Given the description of an element on the screen output the (x, y) to click on. 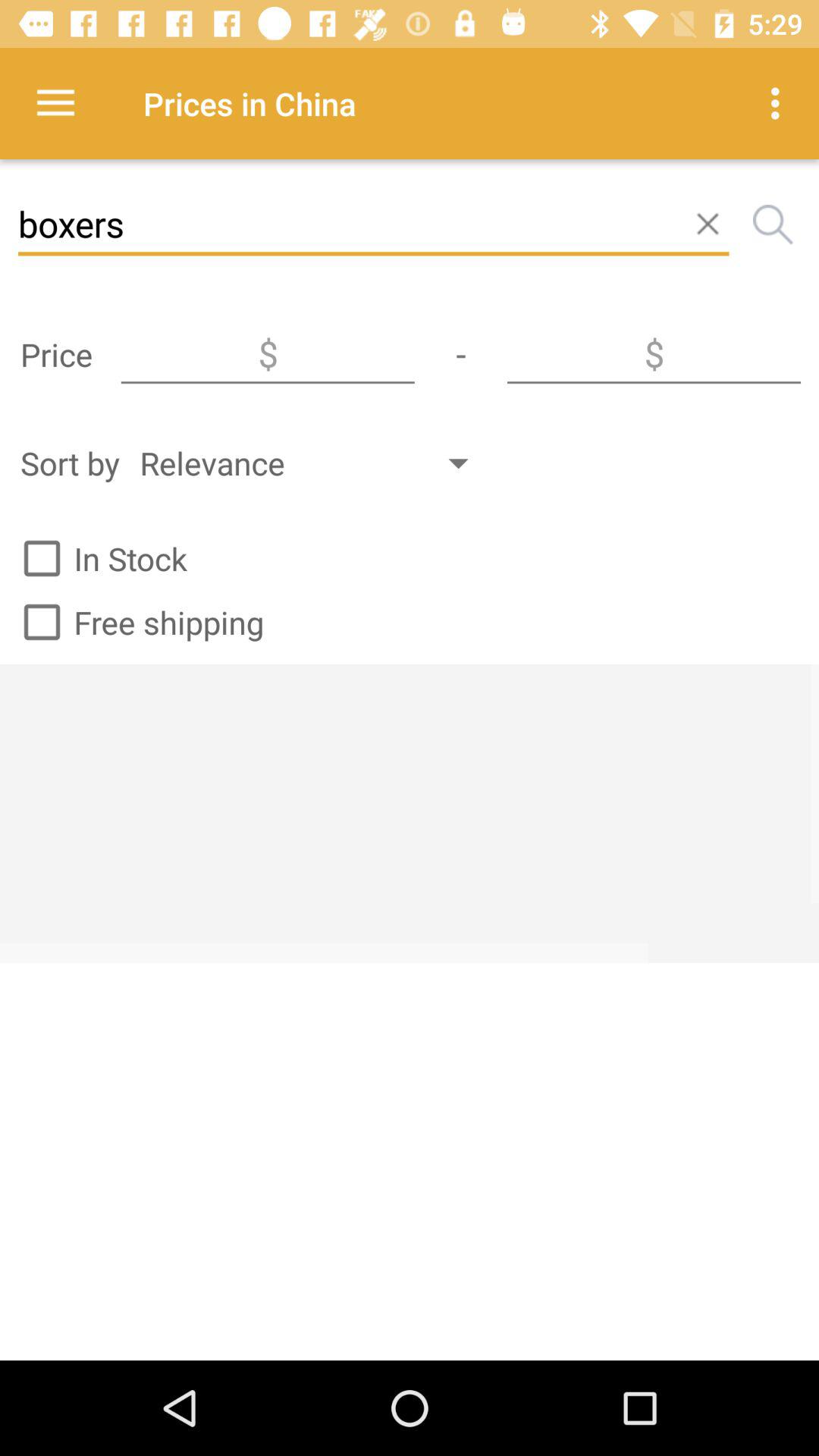
select the item next to the prices in china (779, 103)
